Given the description of an element on the screen output the (x, y) to click on. 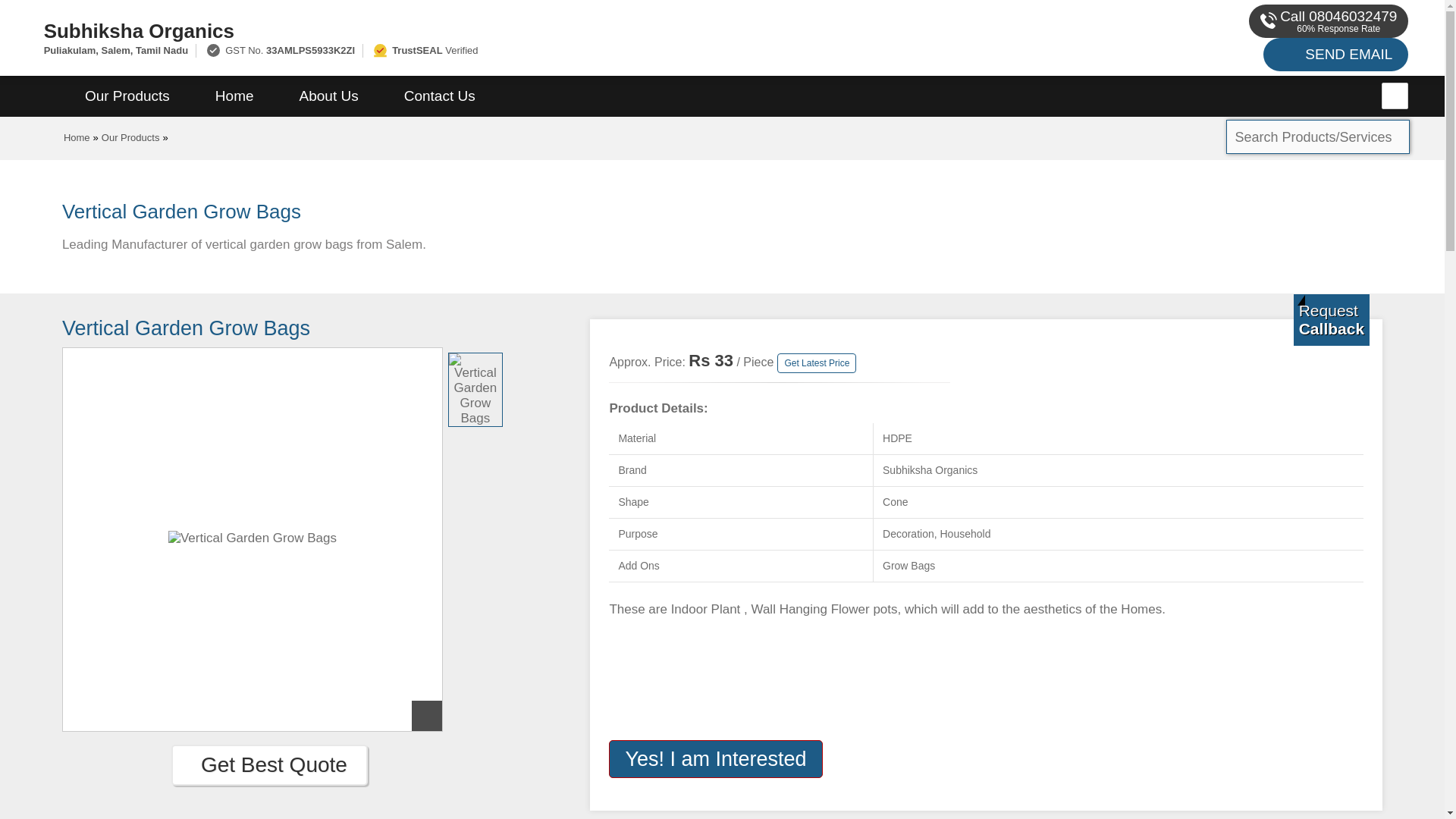
About Us (328, 96)
Subhiksha Organics (480, 31)
Our Products (130, 137)
Get a Call from us (1332, 319)
Contact Us (439, 96)
Home (77, 137)
Our Products (127, 96)
Home (234, 96)
